Given the description of an element on the screen output the (x, y) to click on. 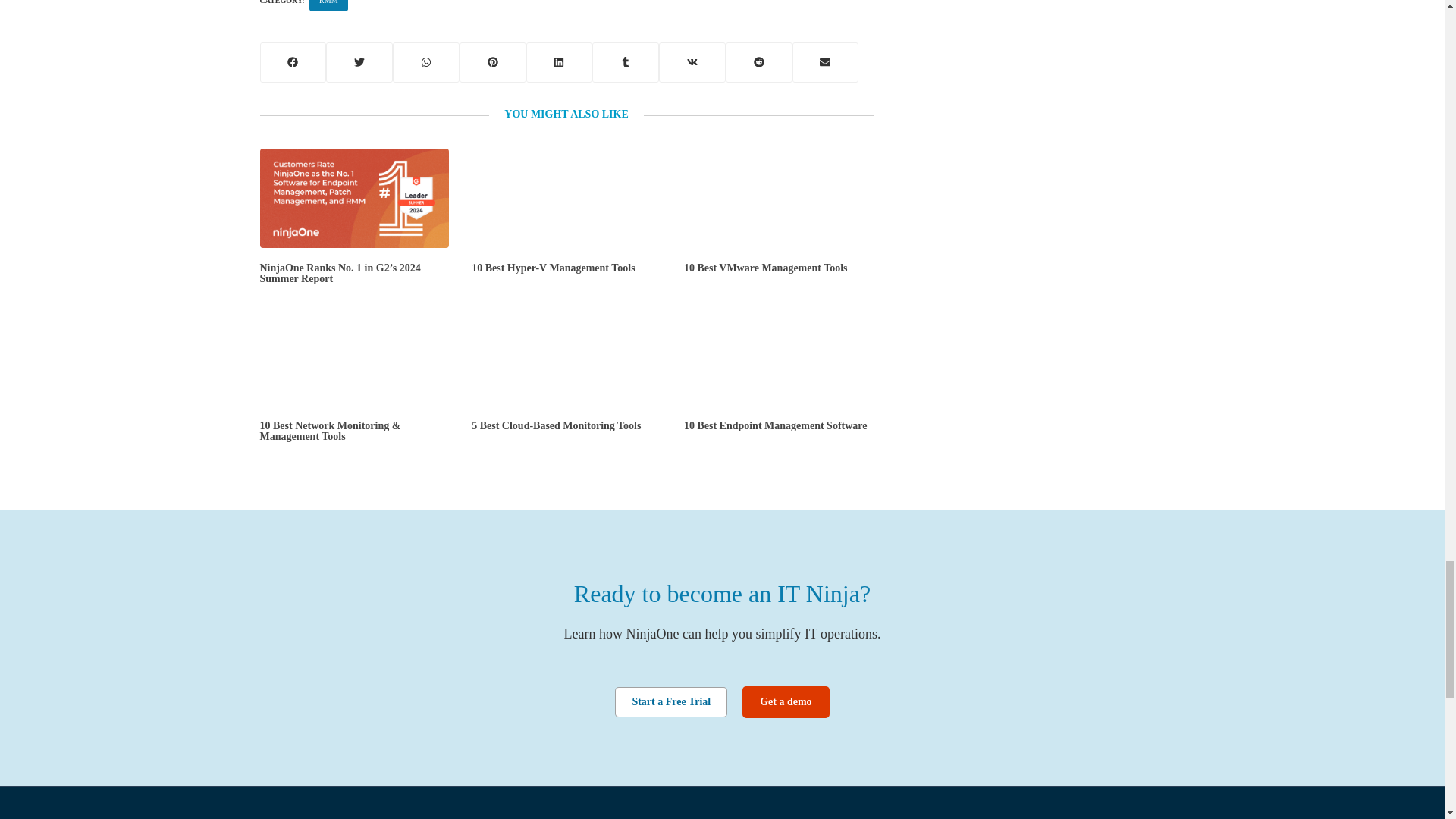
N1-1110 G2 Summer 24 blog image (353, 197)
10 Best VMware Management Tools (778, 197)
Best Endpoint Management Software (778, 356)
10 Best Cloud-Based Monitoring Tools (566, 356)
Best Hyper-V Management Tools (566, 197)
